Given the description of an element on the screen output the (x, y) to click on. 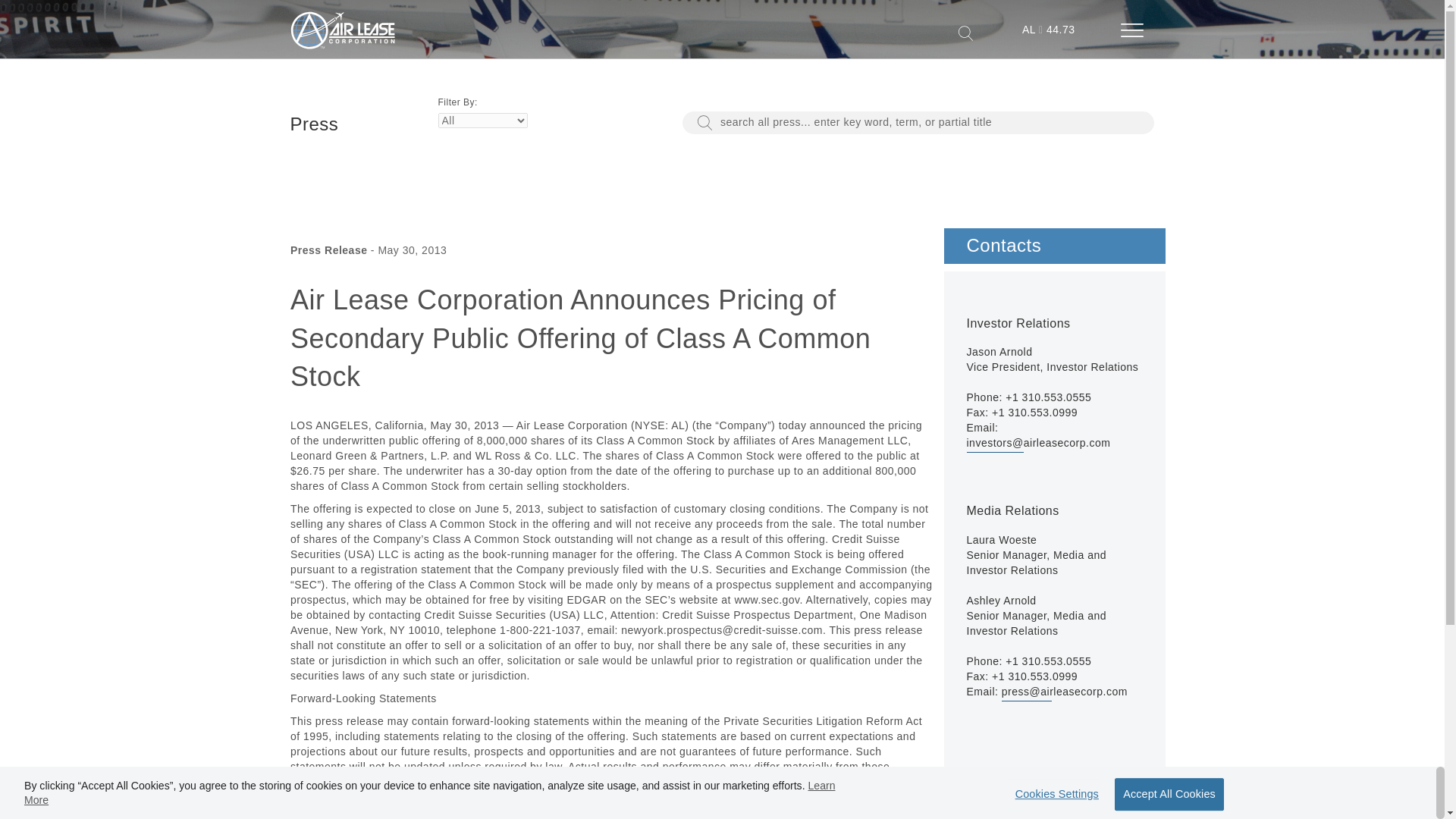
Search (965, 32)
AL 44.73 (1048, 32)
Open Preference Center Button (1053, 793)
open (1137, 32)
Skip to content (33, 22)
Return to homepage (341, 45)
Air Lease Corporation Logo (341, 30)
Accept Cookies Button (1169, 794)
Search (704, 122)
